Given the description of an element on the screen output the (x, y) to click on. 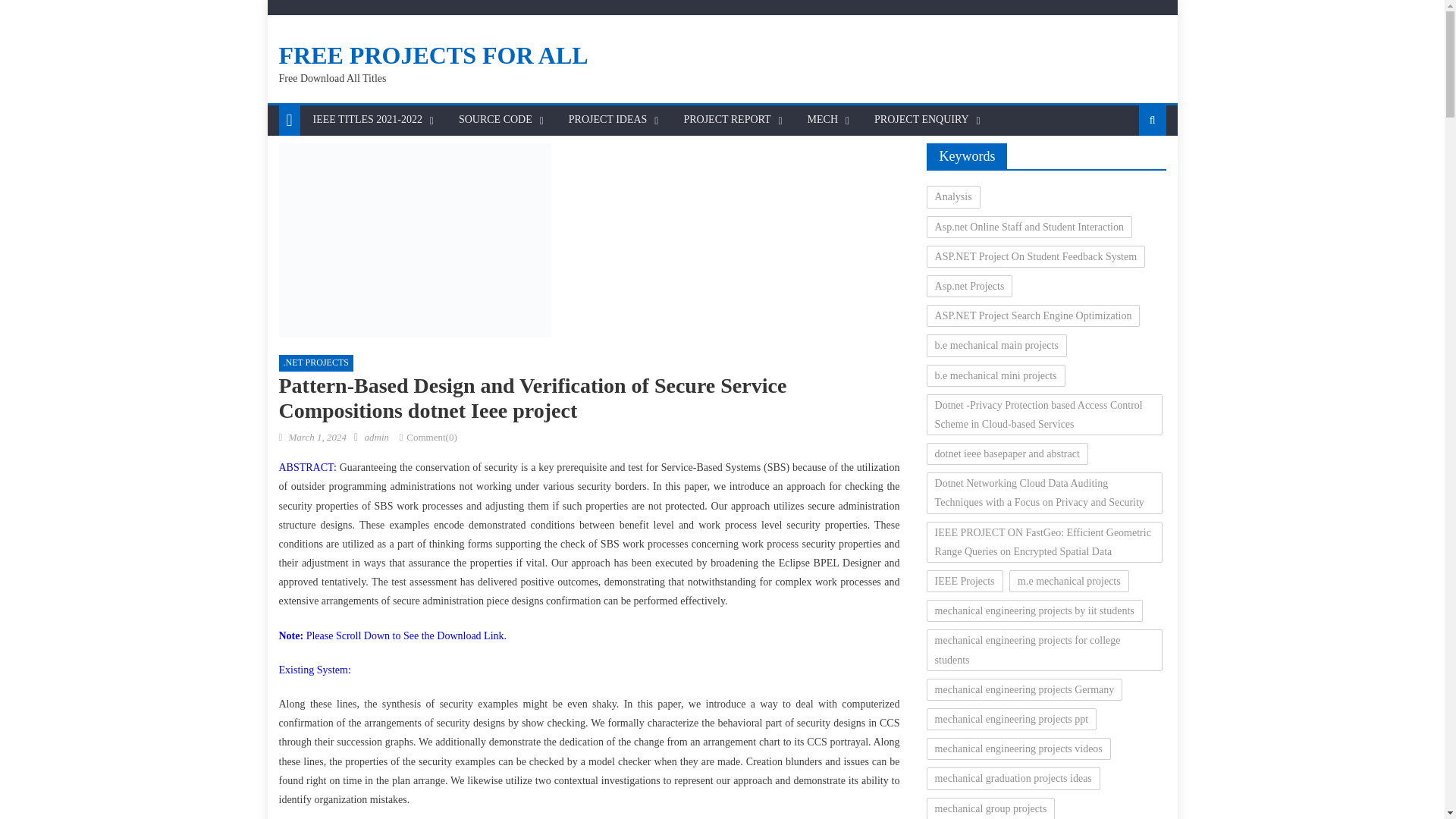
PROJECT IDEAS (608, 119)
SOURCE CODE (494, 119)
PROJECT REPORT (726, 119)
IEEE TITLES 2021-2022 (367, 119)
FREE PROJECTS FOR ALL (433, 54)
